Given the description of an element on the screen output the (x, y) to click on. 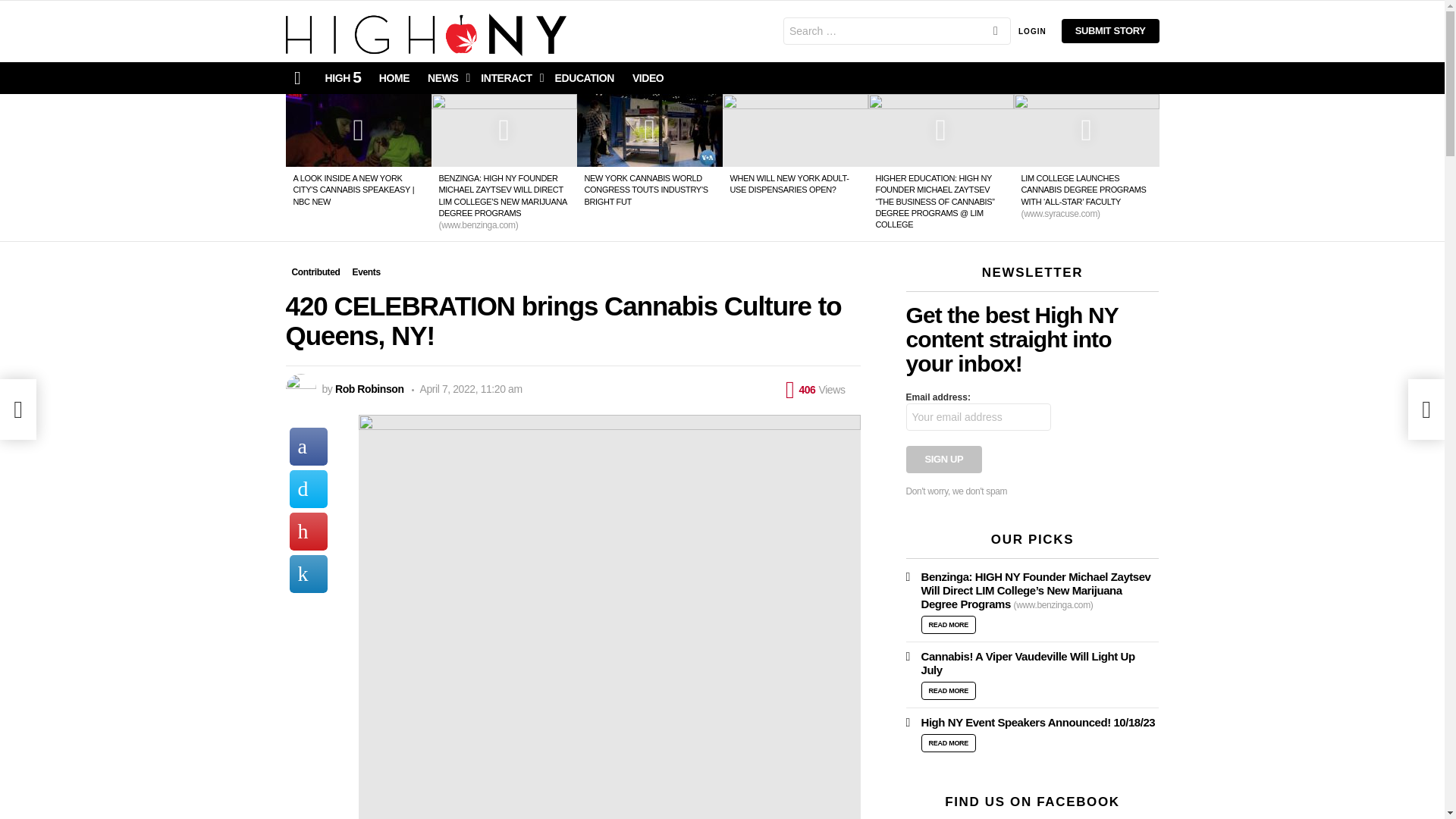
EDUCATION (584, 78)
Share on Pinterest (308, 531)
WHEN WILL NEW YORK ADULT-USE DISPENSARIES OPEN? (788, 183)
Events (366, 272)
Contributed (315, 272)
Search for: (896, 31)
SEARCH (994, 32)
Share on Facebook (308, 446)
HIGH 5 (342, 78)
When will New York adult-use dispensaries open? (794, 130)
INTERACT (508, 78)
Posts by Rob Robinson (369, 388)
LOGIN (1031, 30)
Share on Twitter (308, 488)
Menu (296, 78)
